Given the description of an element on the screen output the (x, y) to click on. 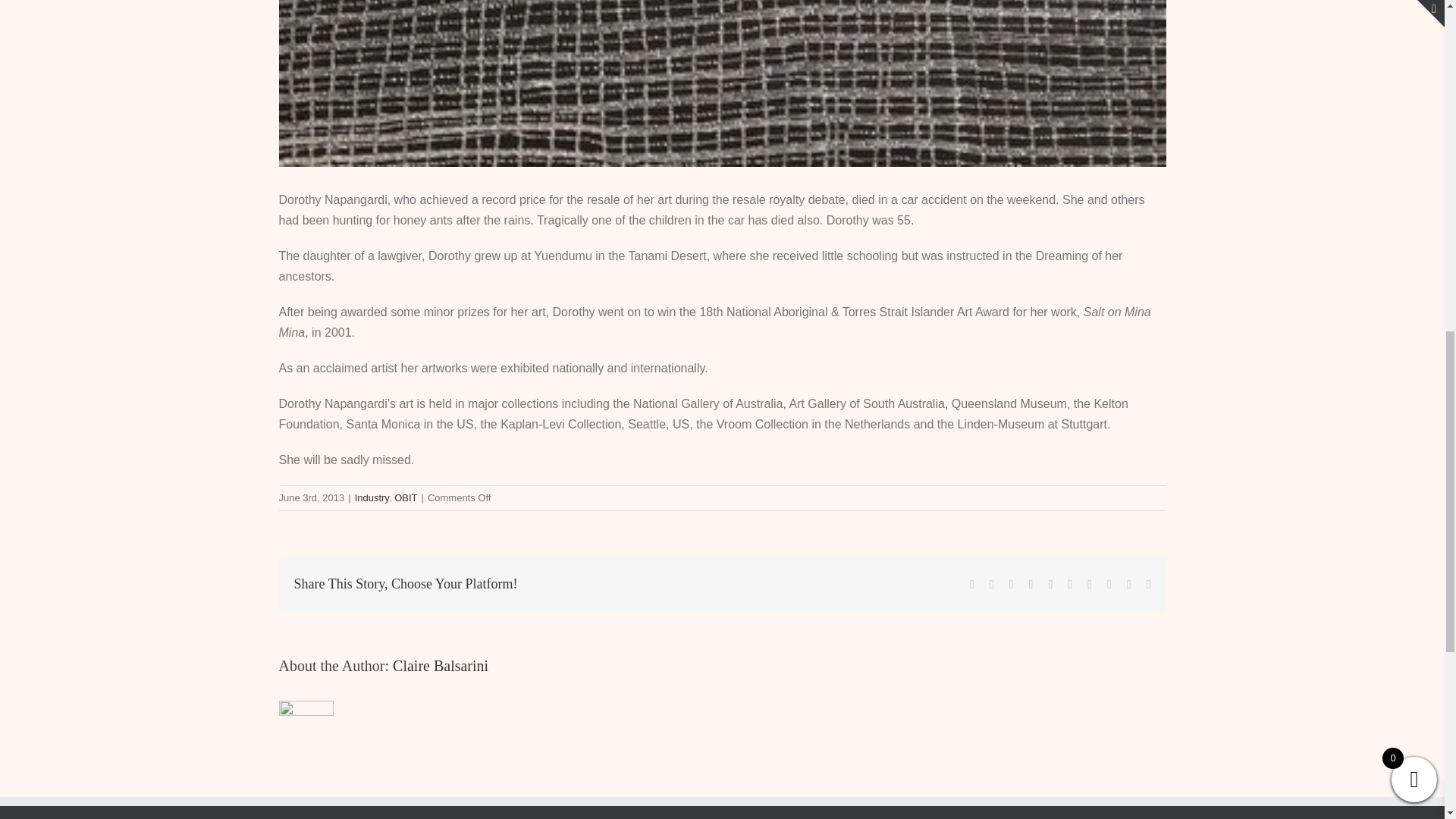
Posts by Claire Balsarini (440, 665)
